Given the description of an element on the screen output the (x, y) to click on. 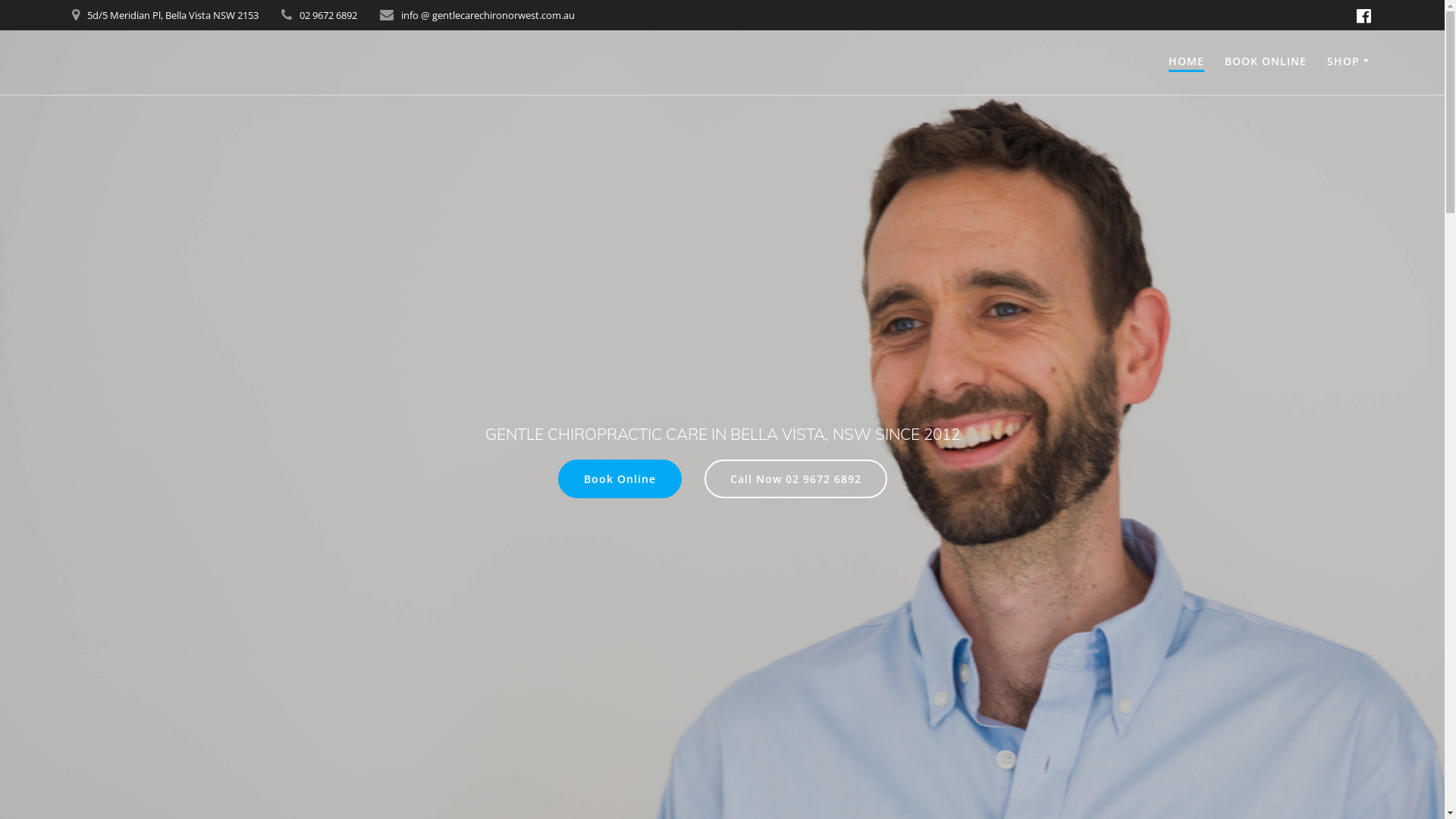
SHOP Element type: text (1350, 61)
BOOK ONLINE Element type: text (1265, 61)
HOME Element type: text (1186, 62)
Call Now 02 9672 6892 Element type: text (794, 478)
Book Online Element type: text (619, 478)
